Given the description of an element on the screen output the (x, y) to click on. 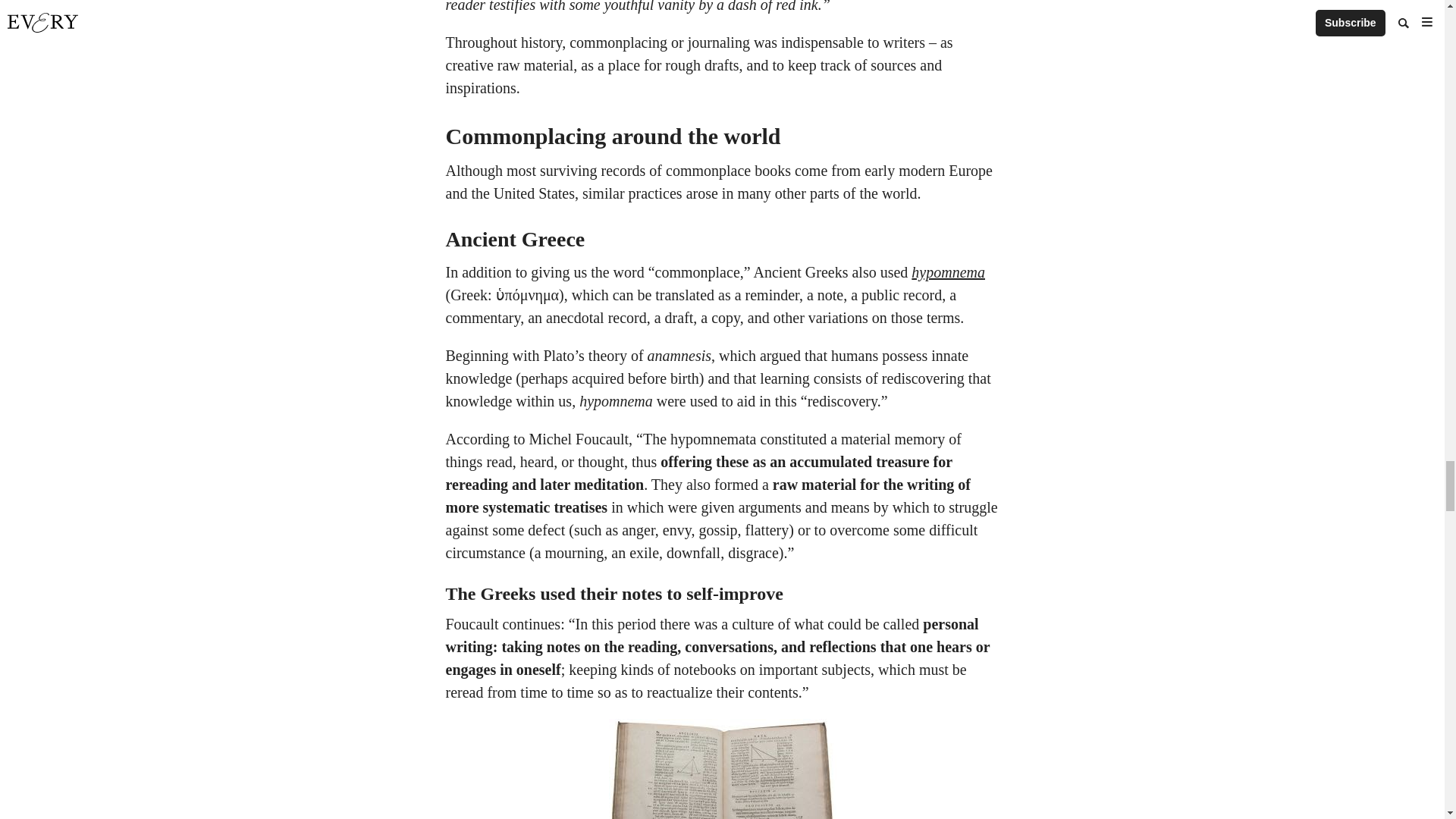
hypomnema (948, 271)
